Given the description of an element on the screen output the (x, y) to click on. 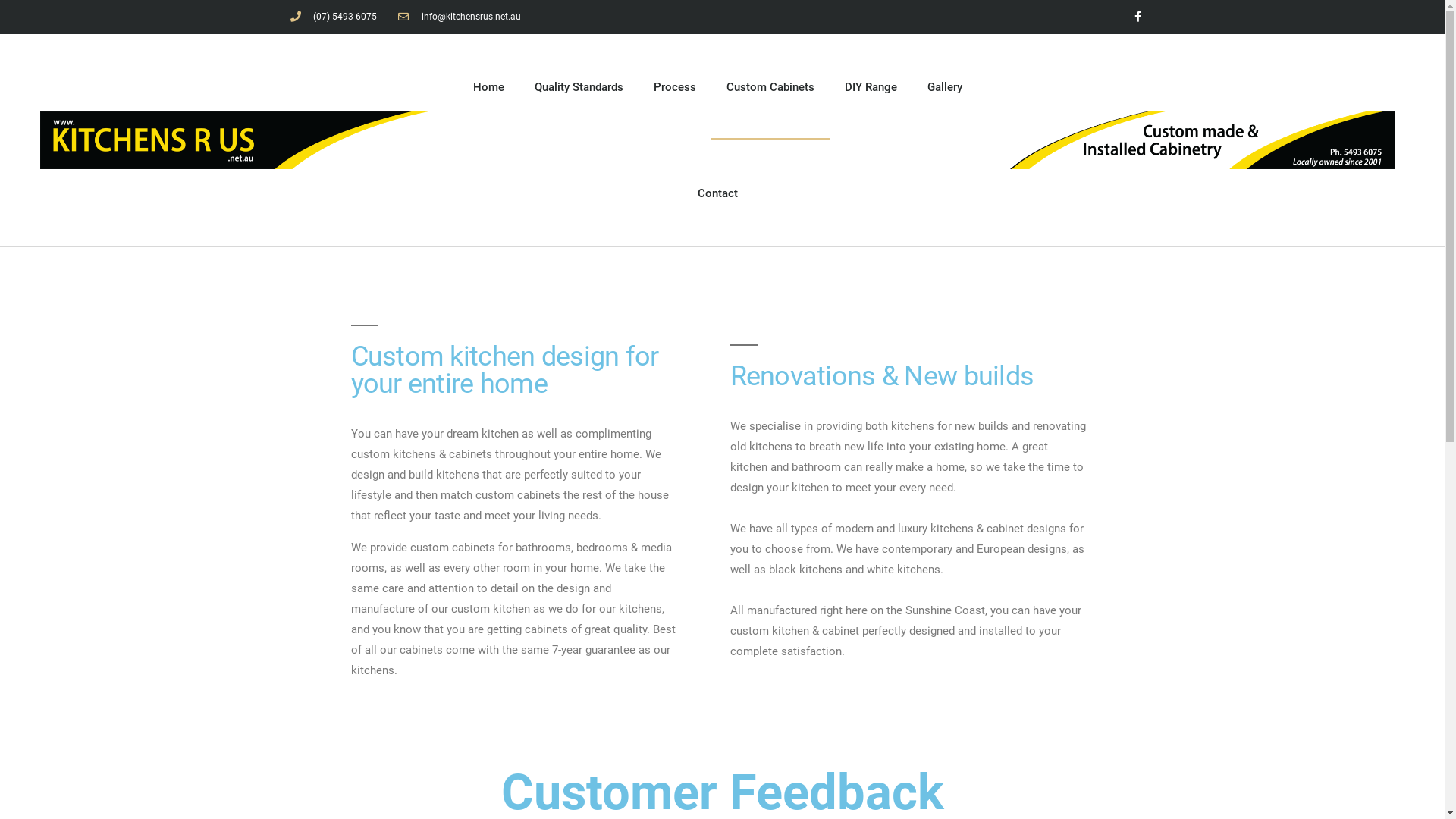
Custom Cabinets Element type: text (770, 87)
Gallery Element type: text (944, 87)
DIY Range Element type: text (870, 87)
(07) 5493 6075 Element type: text (332, 17)
Home Element type: text (488, 87)
Process Element type: text (674, 87)
Quality Standards Element type: text (578, 87)
Contact Element type: text (717, 193)
info@kitchensrus.net.au Element type: text (459, 17)
